Given the description of an element on the screen output the (x, y) to click on. 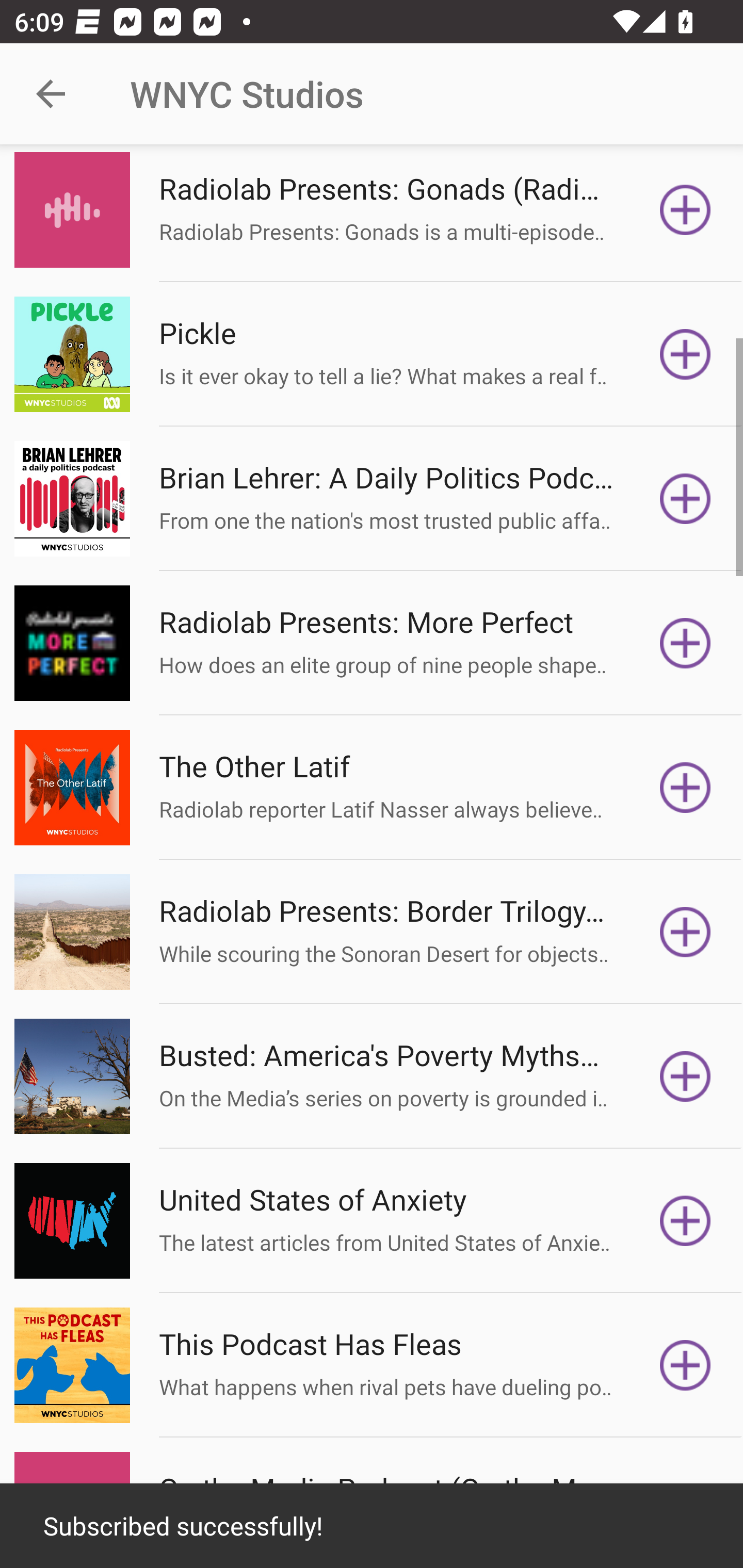
Navigate up (50, 93)
Subscribe (685, 210)
Subscribe (685, 354)
Subscribe (685, 498)
Subscribe (685, 642)
Subscribe (685, 787)
Subscribe (685, 931)
Subscribe (685, 1076)
Subscribe (685, 1220)
Subscribe (685, 1365)
Subscribed successfully! (371, 1525)
